Given the description of an element on the screen output the (x, y) to click on. 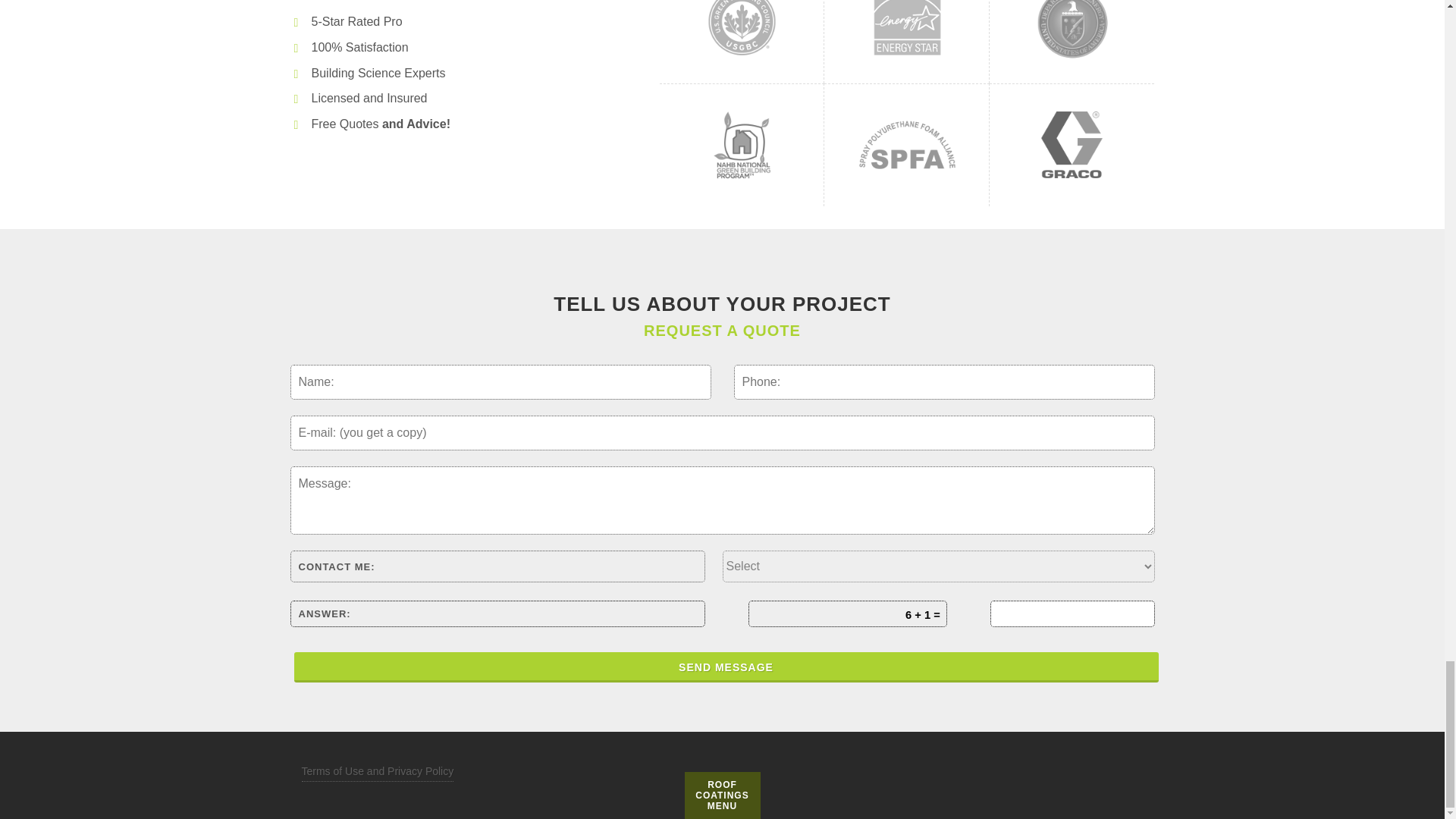
SEND MESSAGE (726, 666)
Terms of Use and Privacy Policy (377, 772)
How do you want us to contact you? (938, 566)
